Given the description of an element on the screen output the (x, y) to click on. 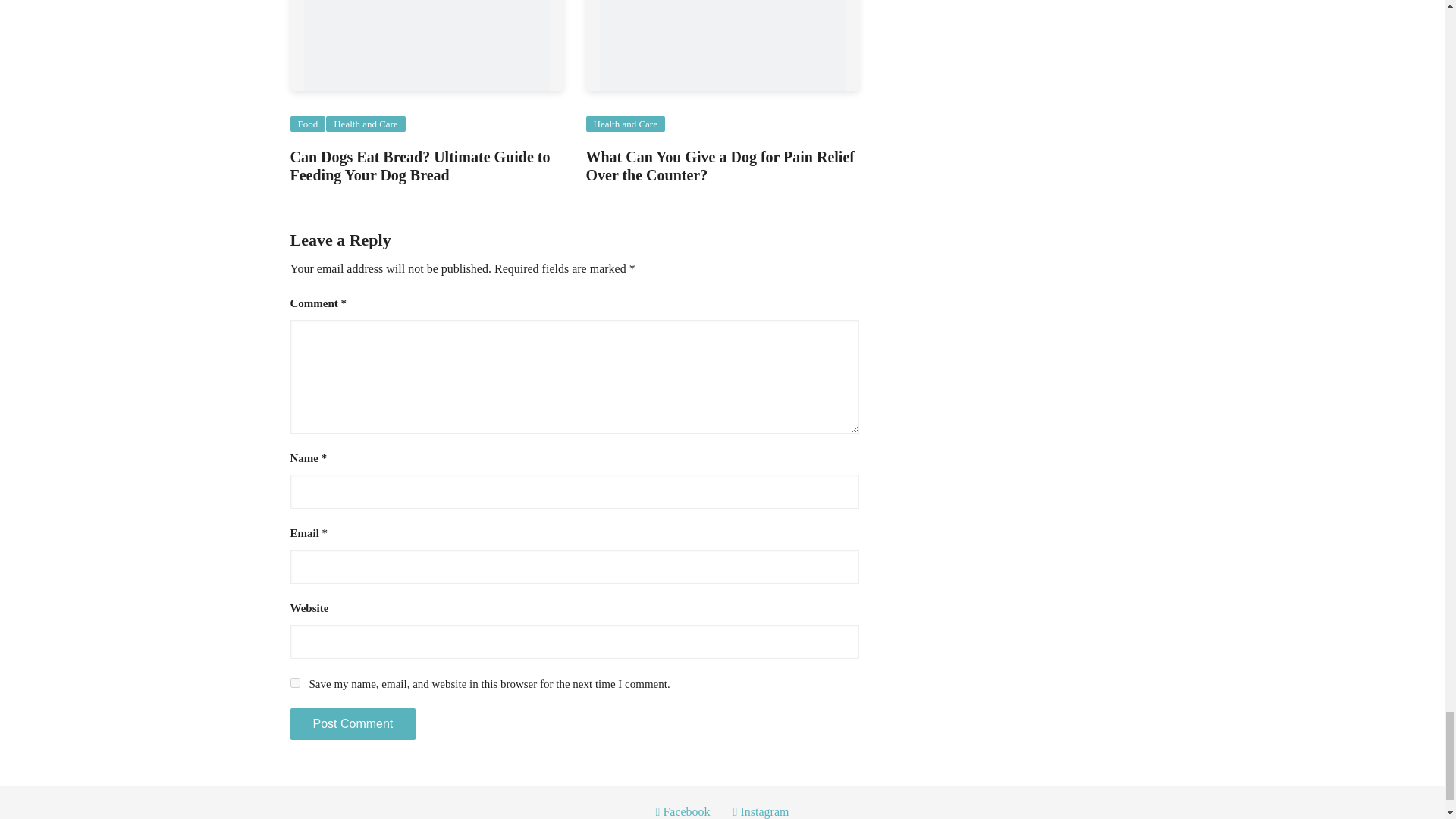
yes (294, 682)
Post Comment (351, 724)
What Can You Give a Dog for Pain Relief Over the Counter? (719, 165)
Health and Care (624, 123)
Health and Care (365, 123)
Food (306, 123)
Can Dogs Eat Bread? Ultimate Guide to Feeding Your Dog Bread (419, 165)
Post Comment (351, 724)
